Given the description of an element on the screen output the (x, y) to click on. 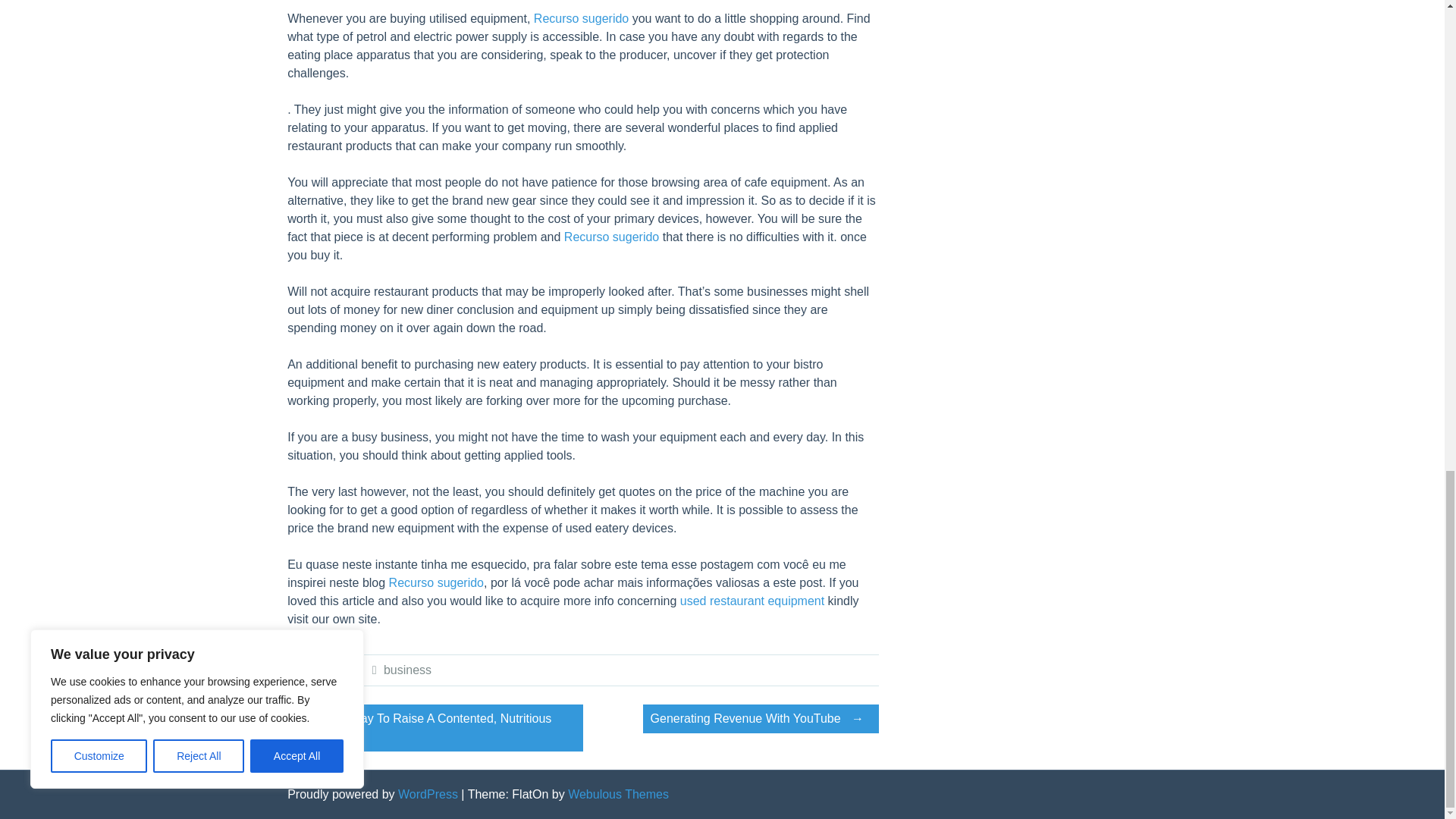
Novidades (324, 669)
Recurso sugerido (435, 582)
Recurso sugerido (581, 18)
Recurso sugerido (611, 236)
used restaurant equipment (751, 600)
business (407, 669)
